Given the description of an element on the screen output the (x, y) to click on. 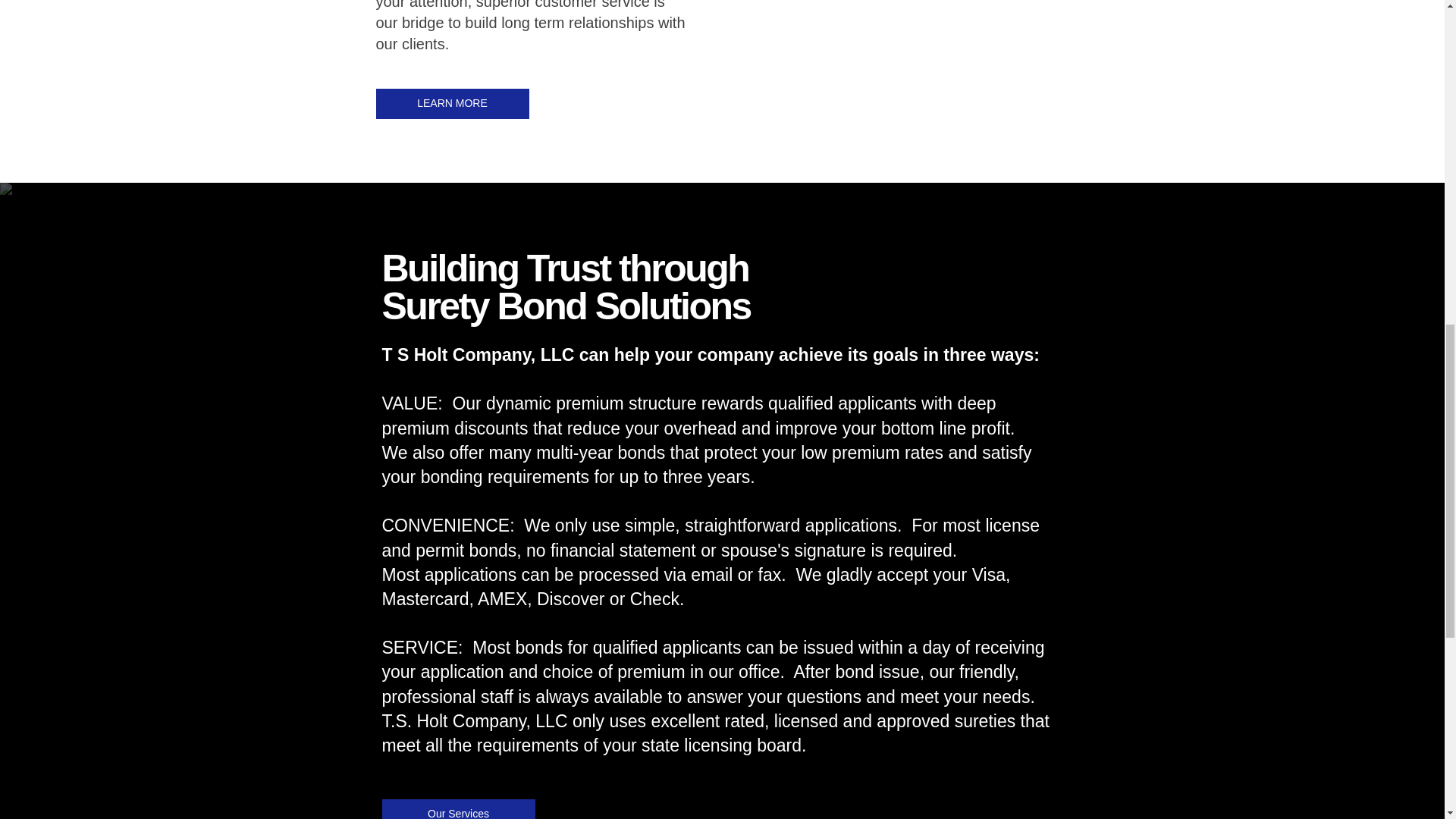
LEARN MORE (452, 103)
Our Services (458, 809)
